Given the description of an element on the screen output the (x, y) to click on. 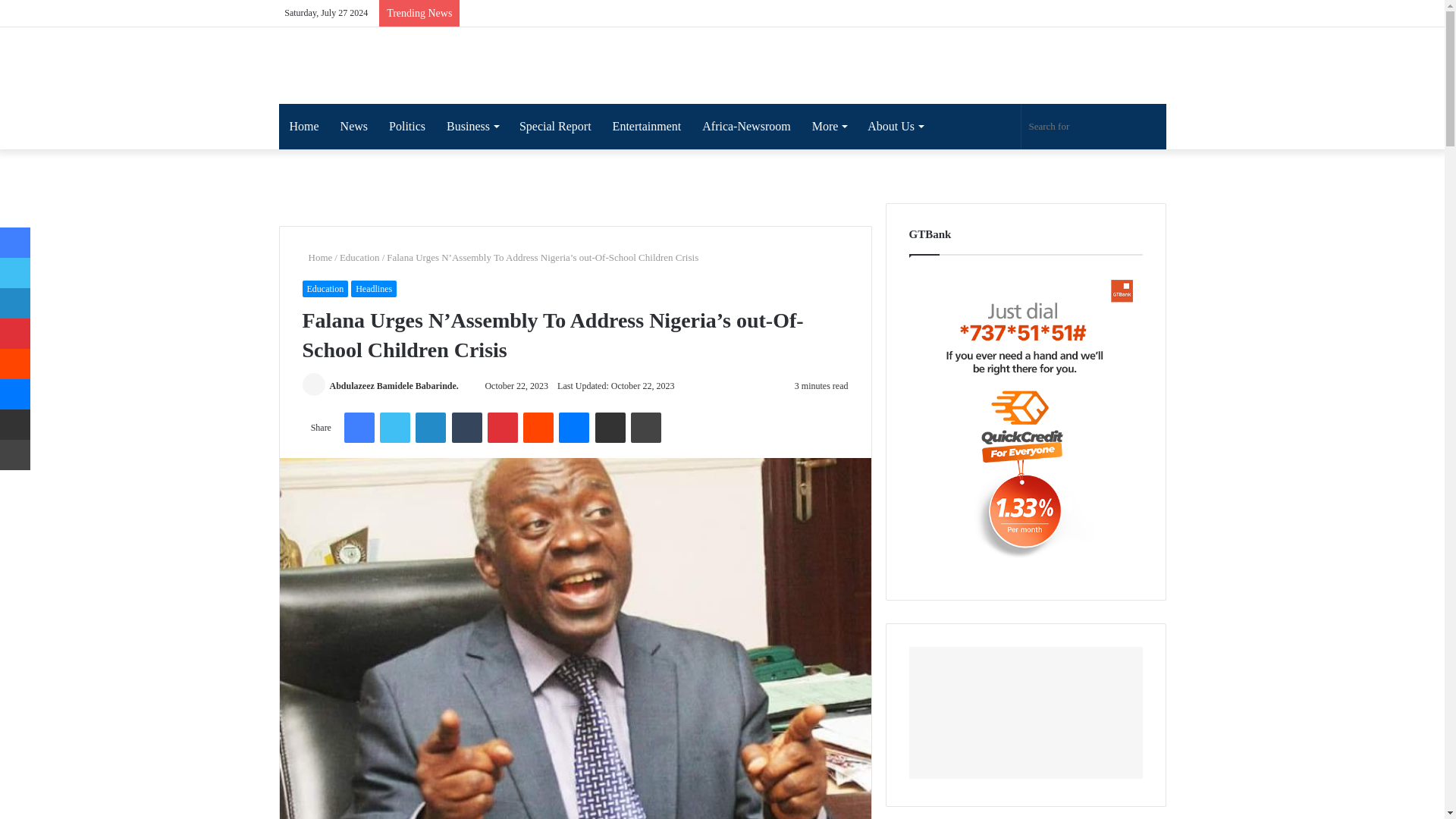
Messenger (574, 427)
LinkedIn (429, 427)
Tumblr (466, 427)
Abdulazeez Bamidele Babarinde. (393, 385)
Politics (406, 126)
Business (471, 126)
Search for (1093, 126)
More (829, 126)
Twitter (395, 427)
Special Report (555, 126)
Pinterest (502, 427)
Reddit (537, 427)
Facebook (358, 427)
Africa-Newsroom (745, 126)
Home (304, 126)
